Given the description of an element on the screen output the (x, y) to click on. 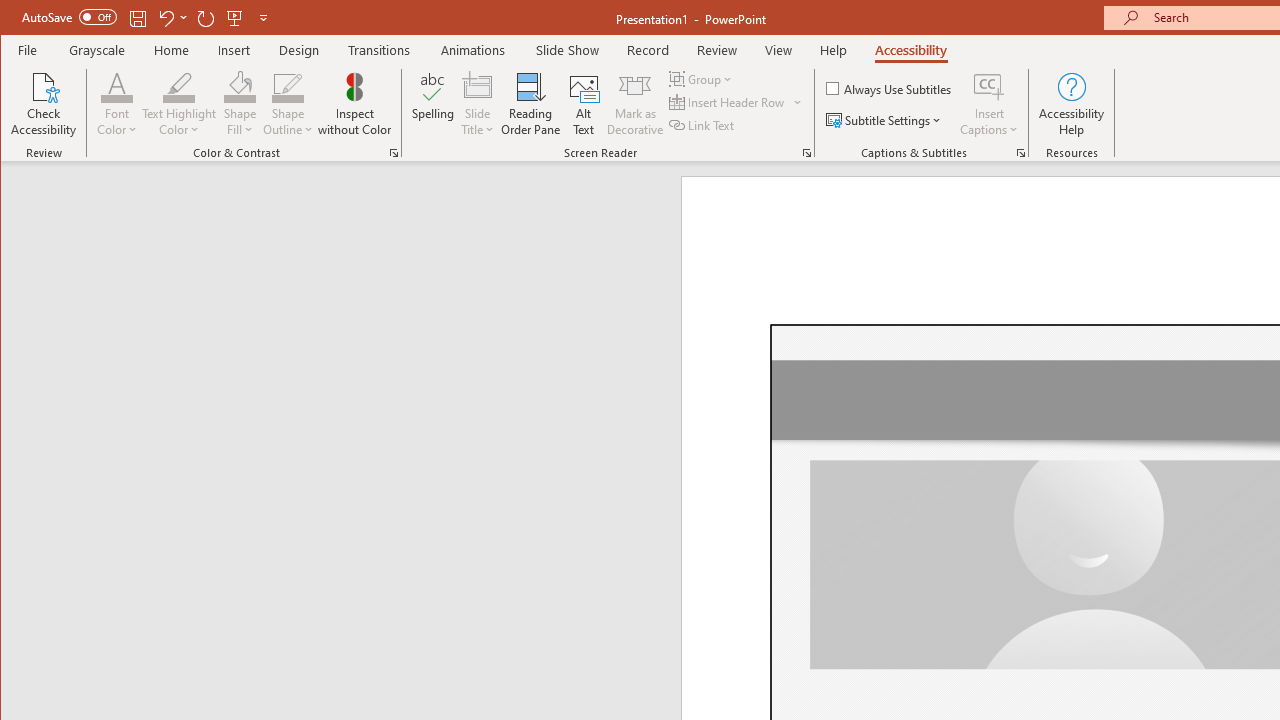
Accessibility Help (1071, 104)
Insert Captions (989, 86)
Link Text (703, 124)
Shape Outline Blue, Accent 1 (288, 86)
Insert Header Row (728, 101)
Group (701, 78)
Color & Contrast (393, 152)
Inspect without Color (355, 104)
